Given the description of an element on the screen output the (x, y) to click on. 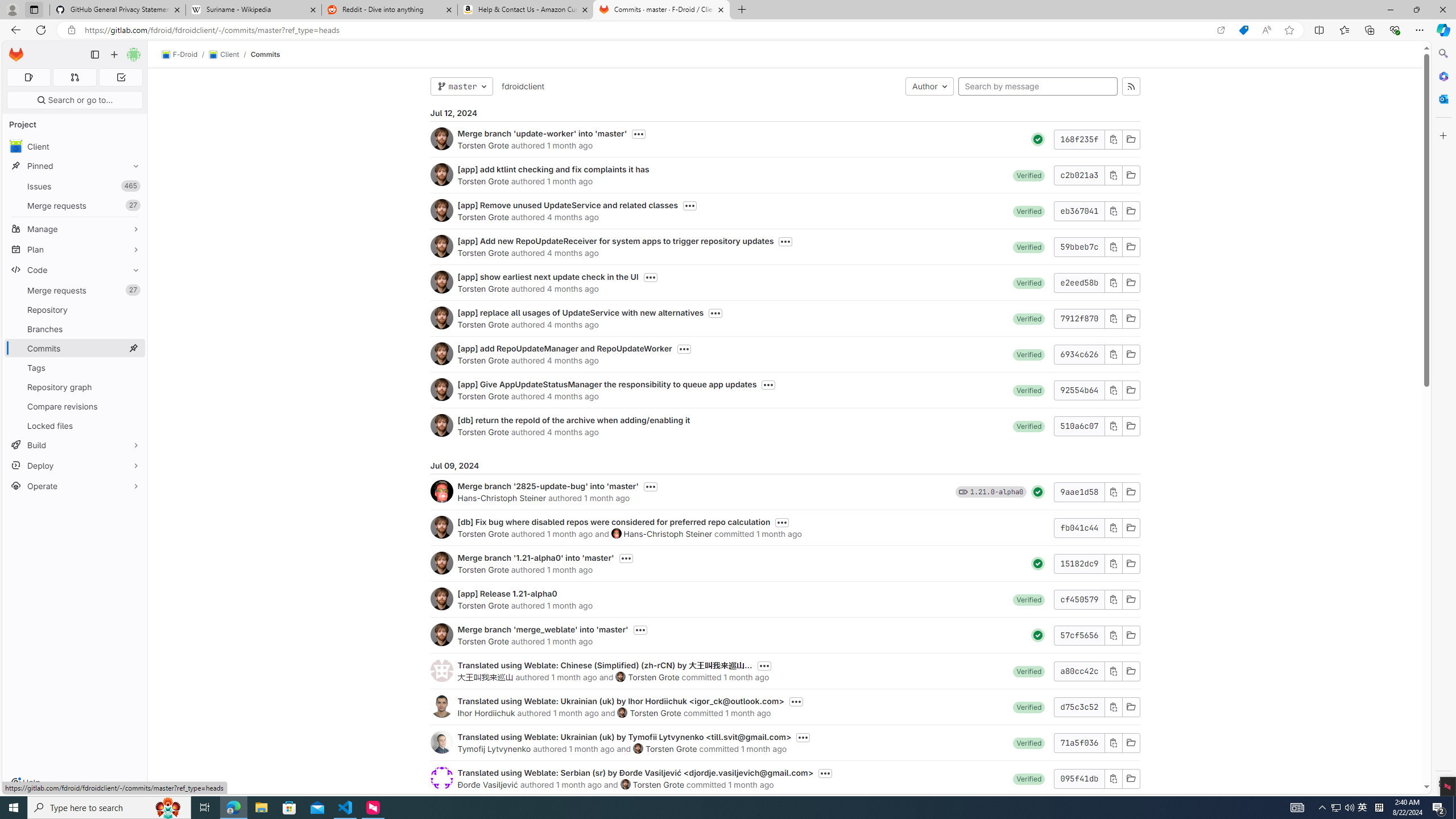
[app] Remove unused UpdateService and related classes (567, 204)
Verified (1029, 778)
Merge branch '1.21-alpha0' into 'master' (535, 557)
Hans-Christoph Steiner (667, 533)
Merge requests 27 (74, 289)
Manage (74, 228)
Unpin Issues (132, 186)
Class: s16 gl-icon gl-badge-icon (963, 491)
Issues 465 (74, 185)
Toggle commit description (825, 773)
Locked files (74, 425)
